Given the description of an element on the screen output the (x, y) to click on. 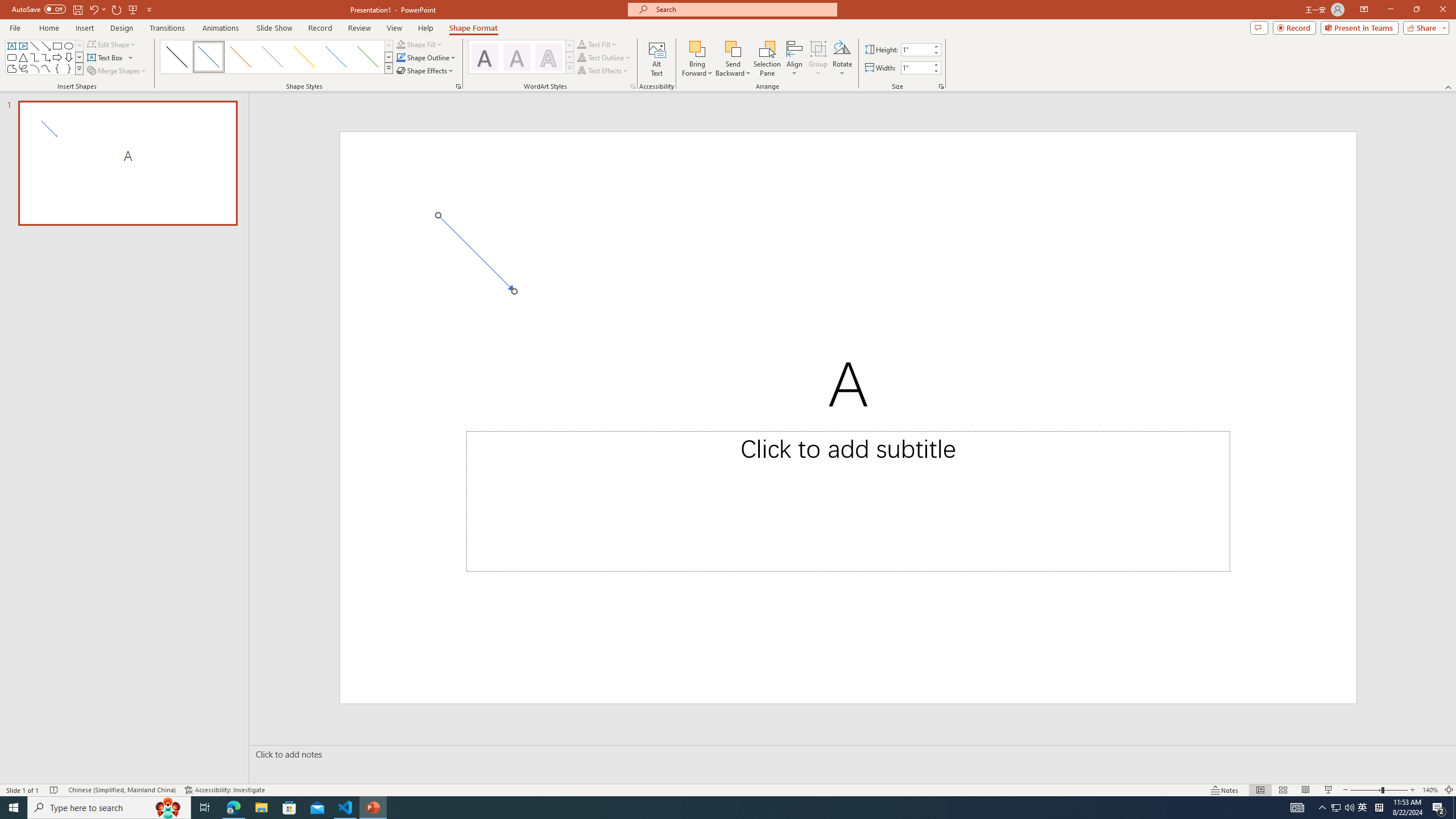
Send Backward (733, 58)
Subtle Line - Dark 1 (176, 56)
Text Fill (581, 44)
Edit Shape (112, 44)
Shape Width (915, 67)
Bring Forward (697, 48)
Fill: Blue, Accent color 1; Shadow (516, 56)
Text Outline (581, 56)
